Given the description of an element on the screen output the (x, y) to click on. 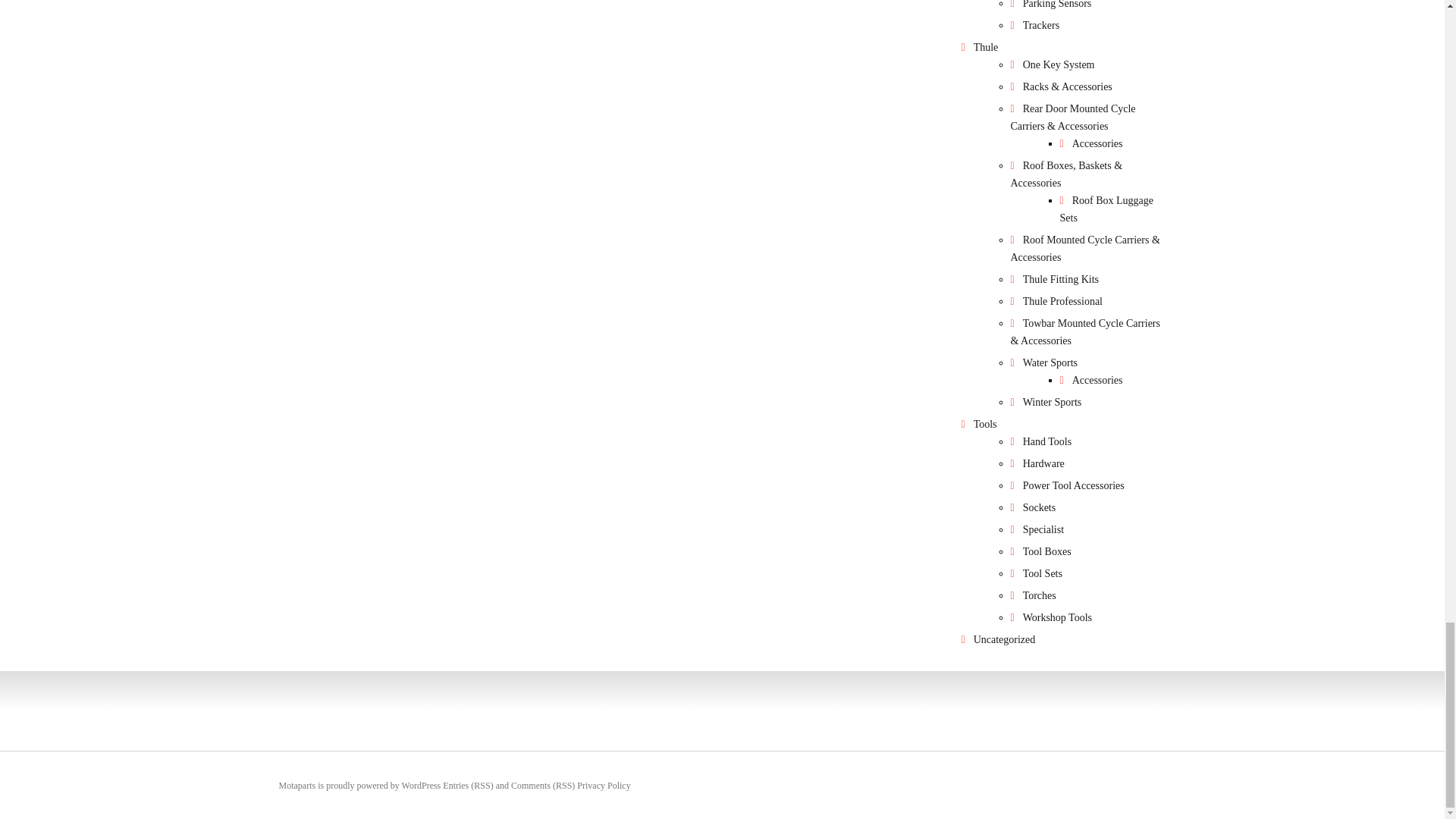
Privacy Policy (603, 784)
